Given the description of an element on the screen output the (x, y) to click on. 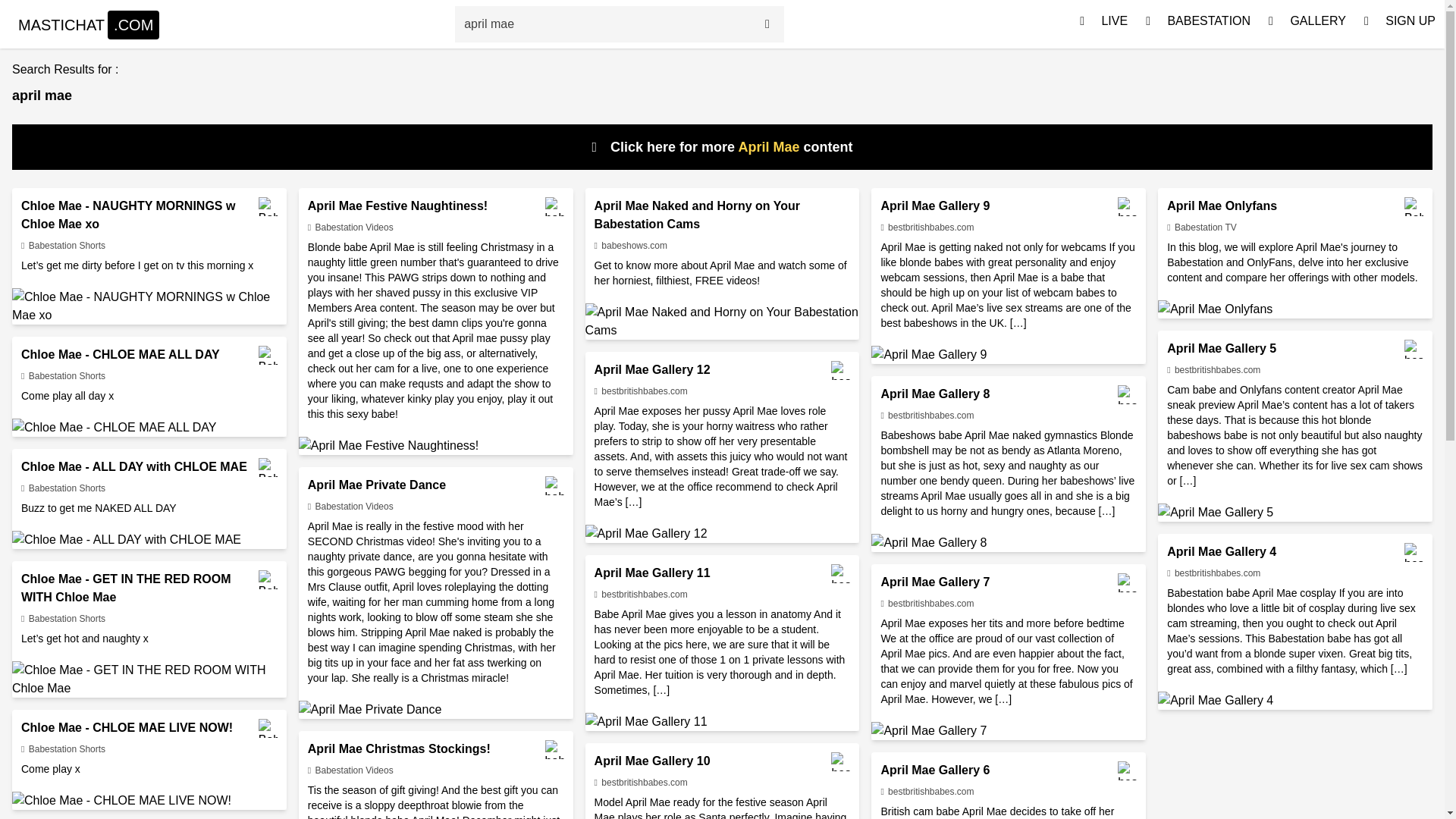
Babestation Videos (350, 506)
LIVE (1103, 24)
Babestation Videos (350, 769)
april mae (601, 23)
BABESTATION (1198, 24)
MASTICHAT.COM (88, 24)
Babestation Videos (350, 226)
GALLERY (1307, 24)
Click here for more April Mae content (721, 146)
